Given the description of an element on the screen output the (x, y) to click on. 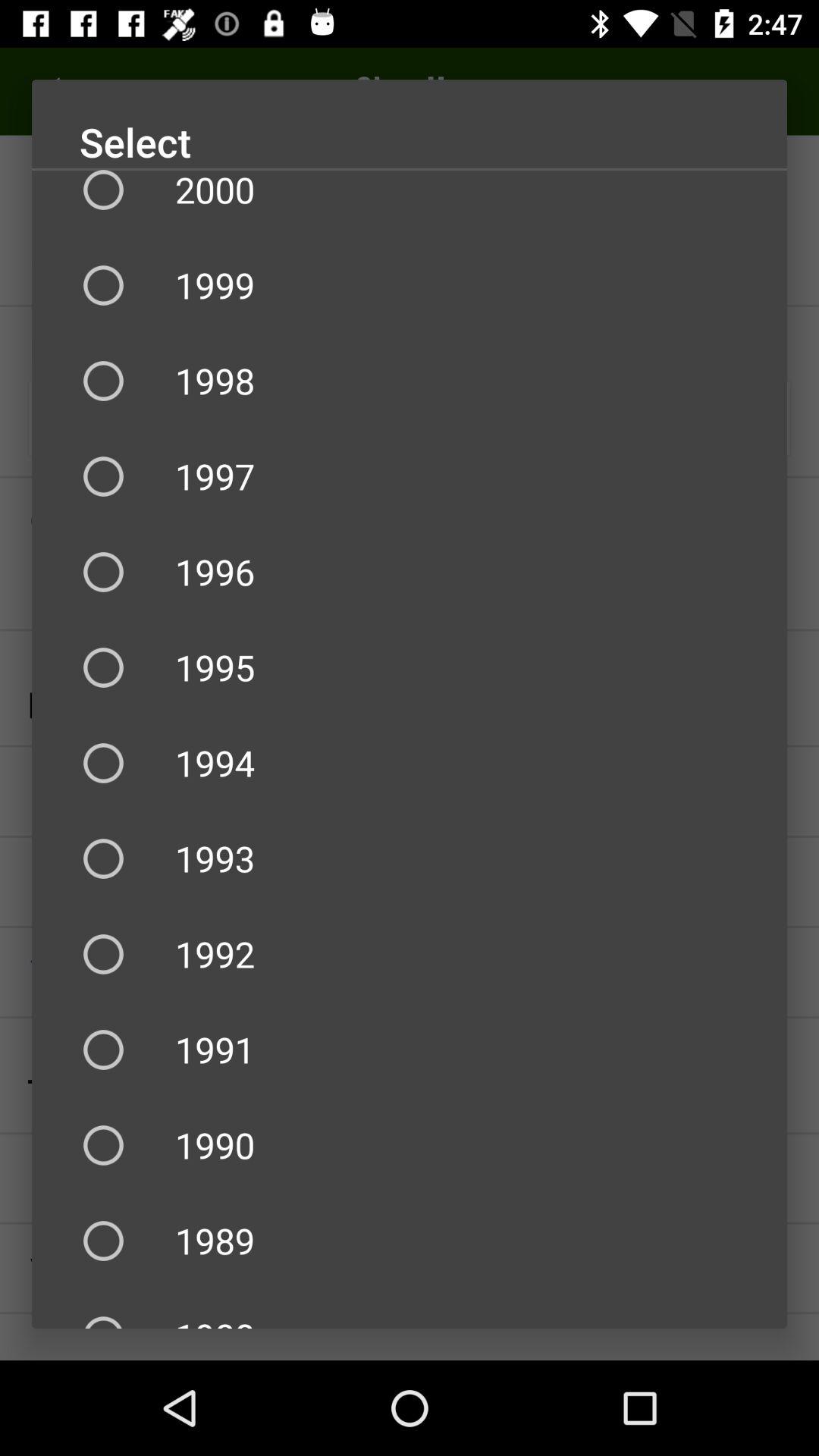
flip until the 1994 (409, 763)
